Given the description of an element on the screen output the (x, y) to click on. 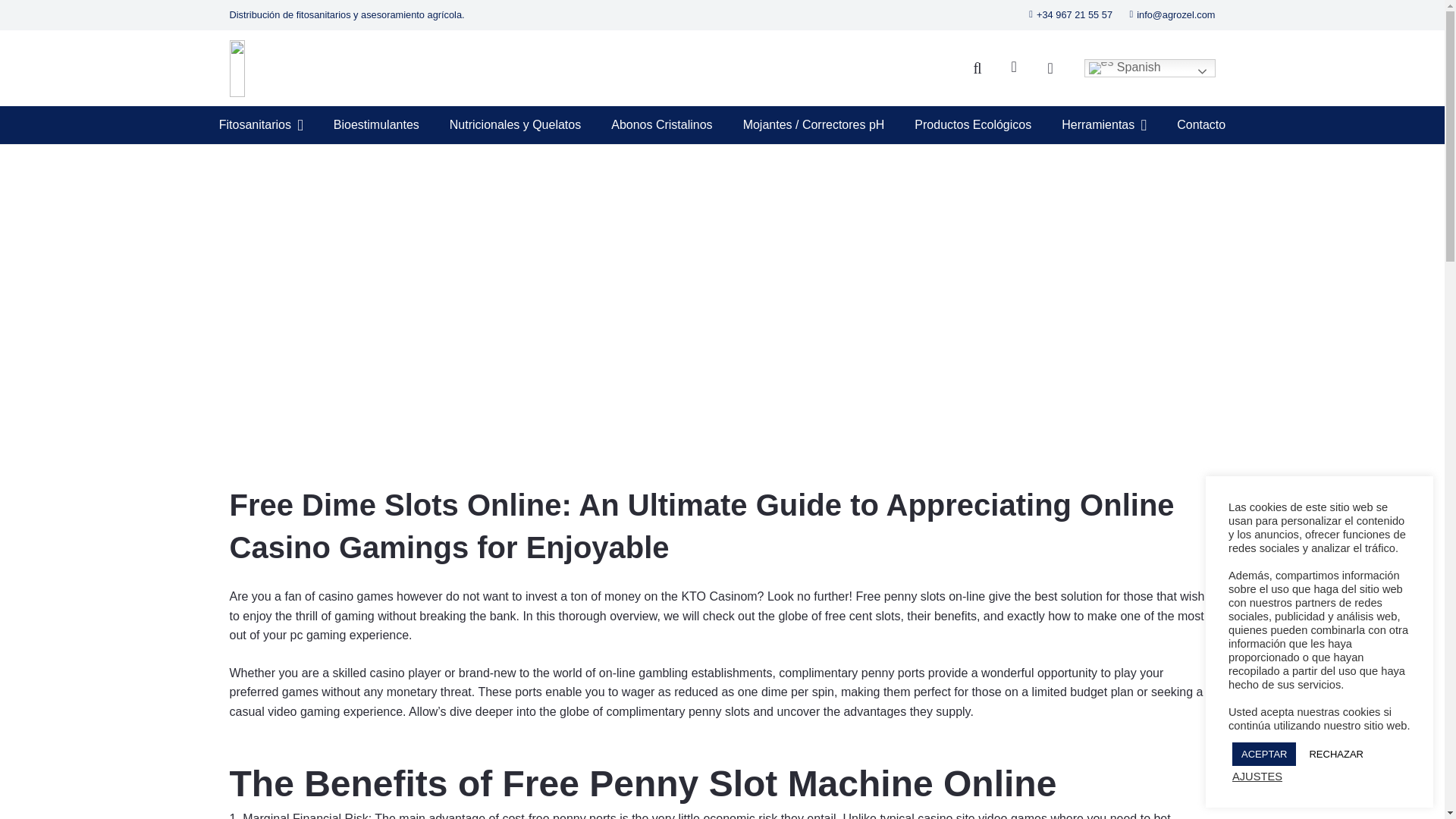
Fitosanitarios (260, 125)
ACEPTAR (1263, 753)
Spanish (1149, 67)
KTO Casino (713, 595)
Nutricionales y Quelatos (514, 125)
Abonos Cristalinos (660, 125)
Bioestimulantes (375, 125)
Herramientas (1103, 125)
AJUSTES (1256, 775)
RECHAZAR (1336, 753)
